Given the description of an element on the screen output the (x, y) to click on. 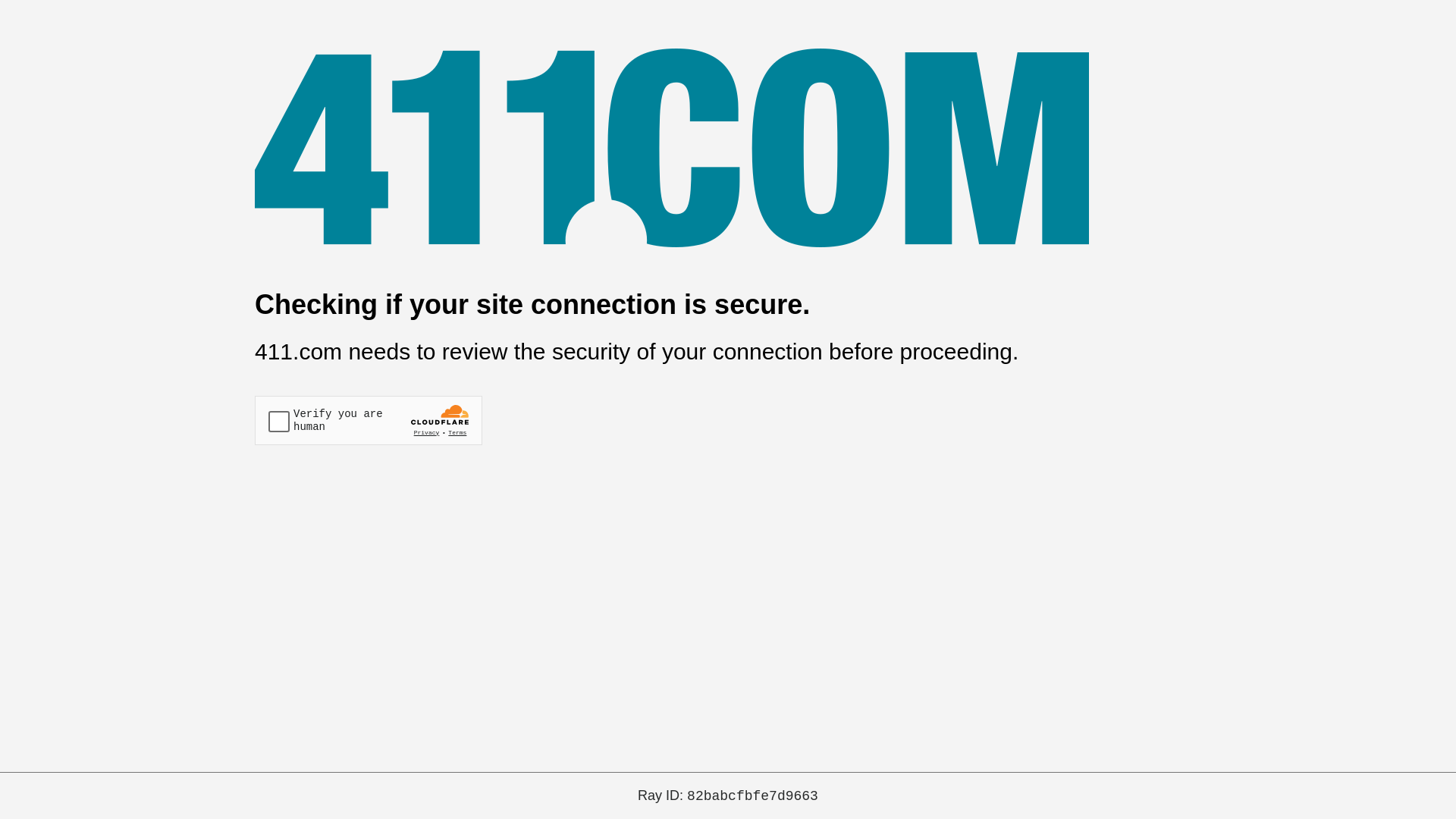
Widget containing a Cloudflare security challenge Element type: hover (368, 420)
